Given the description of an element on the screen output the (x, y) to click on. 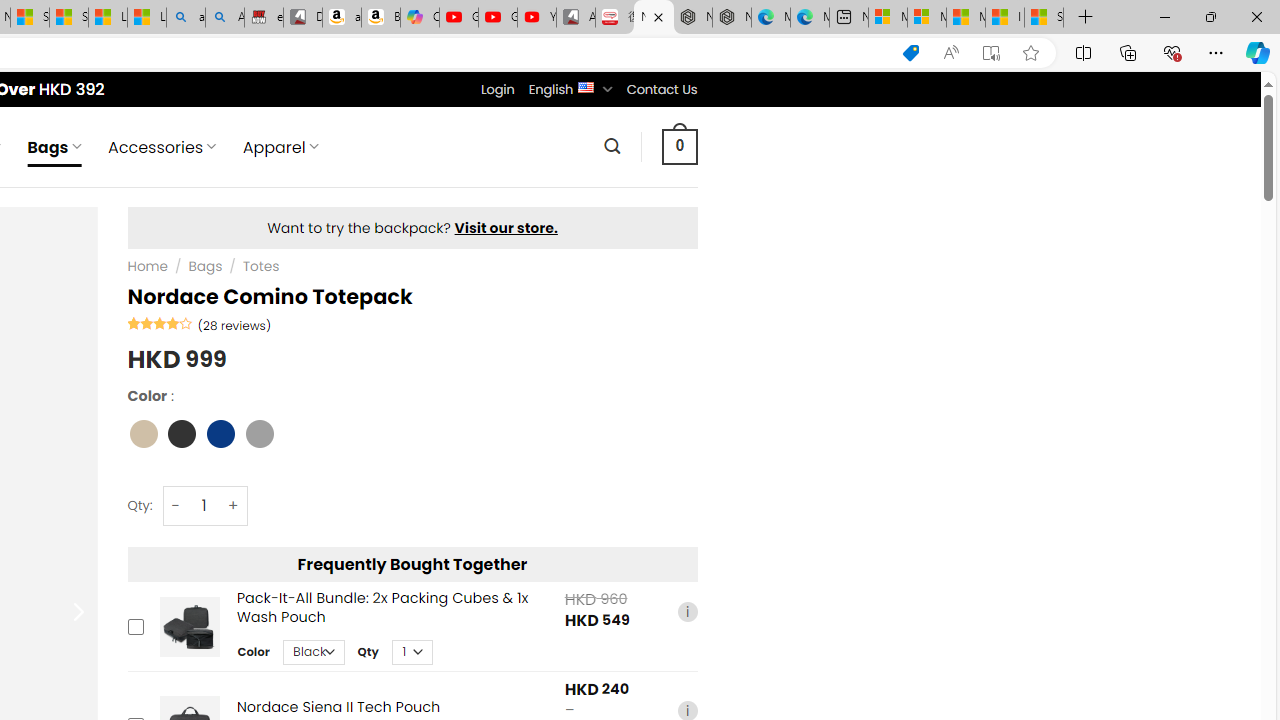
Class: upsell-v2-product-upsell-variable-product-qty-select (411, 652)
Login (497, 89)
  0   (679, 146)
I Gained 20 Pounds of Muscle in 30 Days! | Watch (1004, 17)
Nordace Comino Totepack quantity (204, 505)
Totes (260, 267)
Microsoft account | Privacy (926, 17)
